Given the description of an element on the screen output the (x, y) to click on. 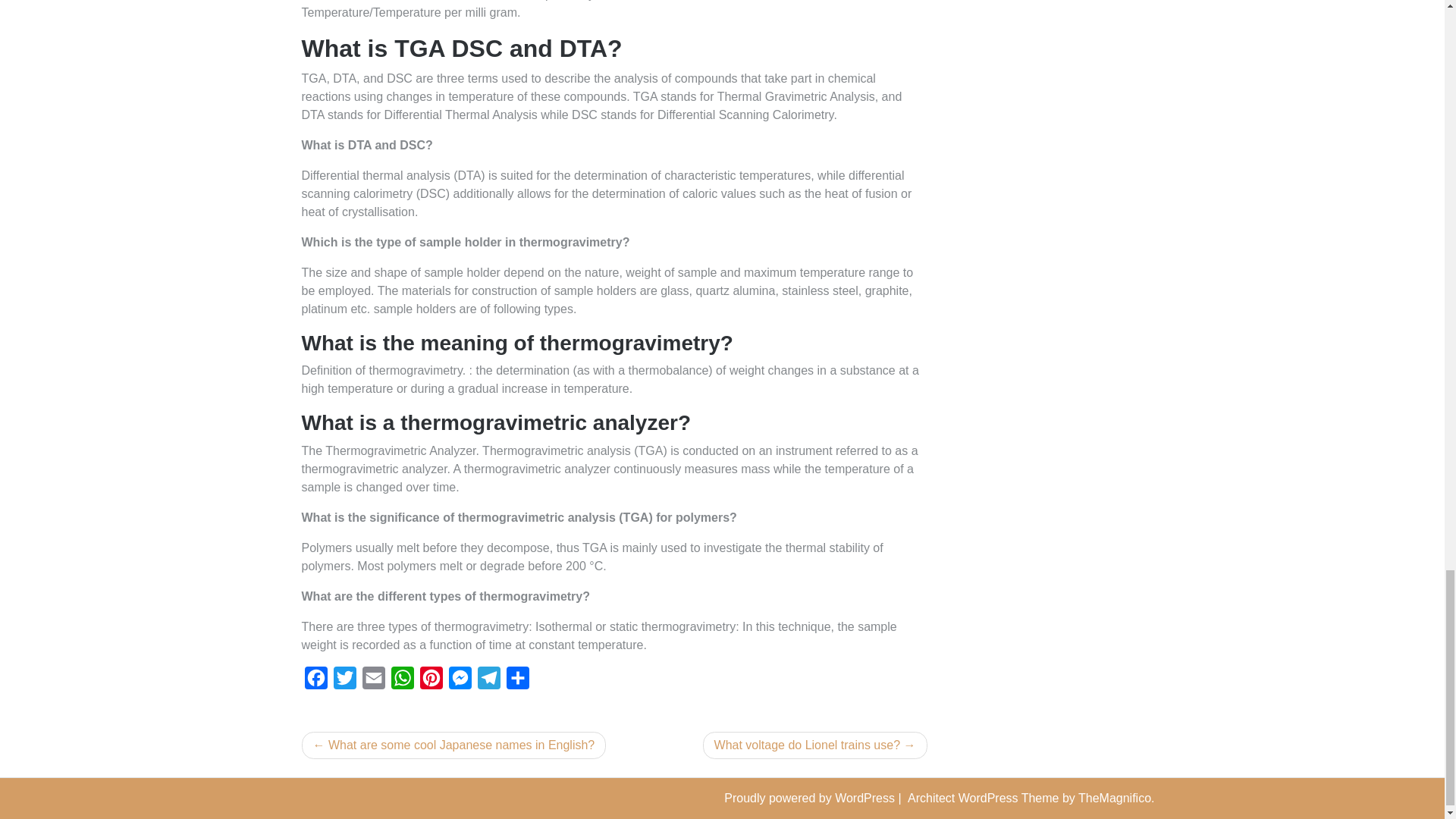
Telegram (488, 681)
WhatsApp (402, 681)
Pinterest (430, 681)
Pinterest (430, 681)
Messenger (459, 681)
Twitter (344, 681)
Email (373, 681)
Email (373, 681)
What voltage do Lionel trains use? (815, 745)
What are some cool Japanese names in English? (454, 745)
